Given the description of an element on the screen output the (x, y) to click on. 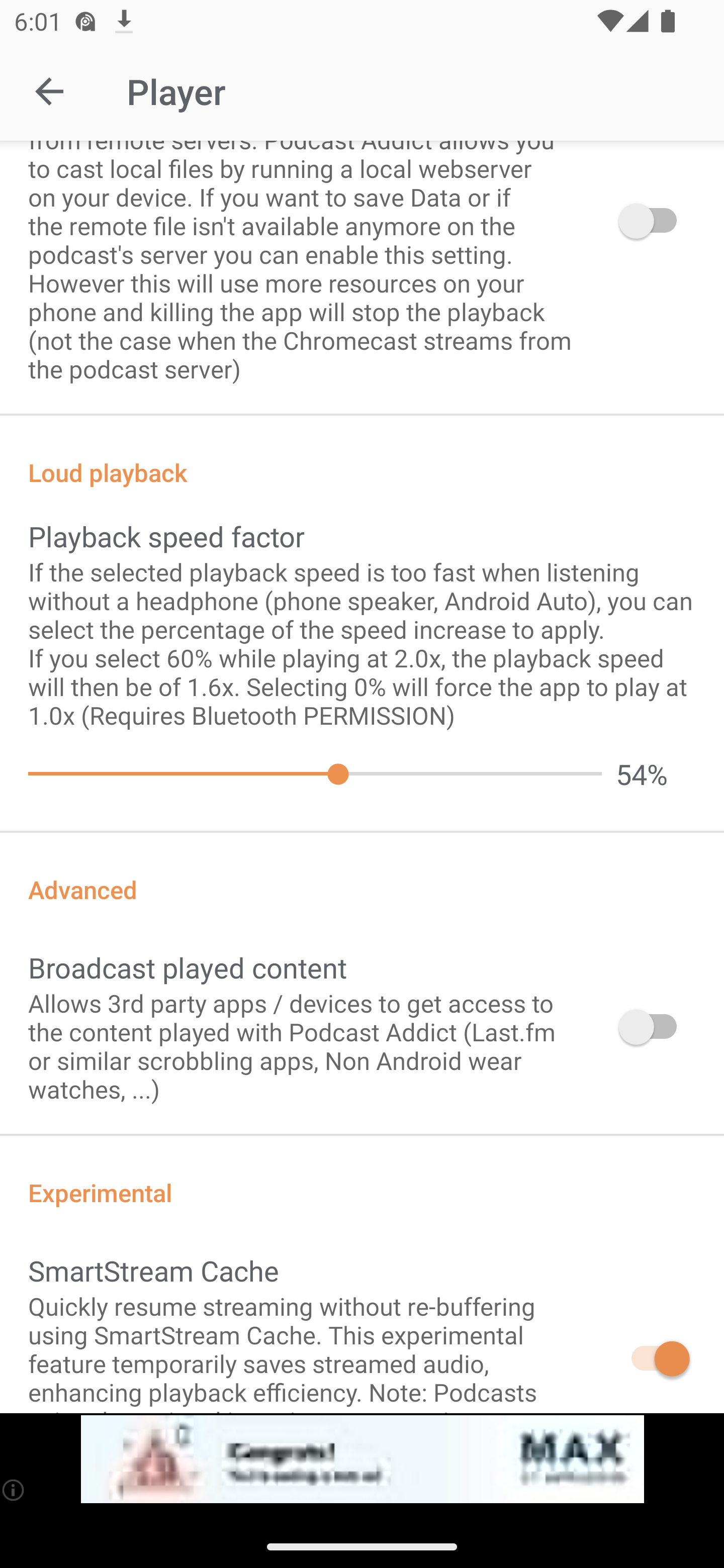
Navigate up (49, 91)
app-monetization (362, 1459)
(i) (14, 1489)
